Given the description of an element on the screen output the (x, y) to click on. 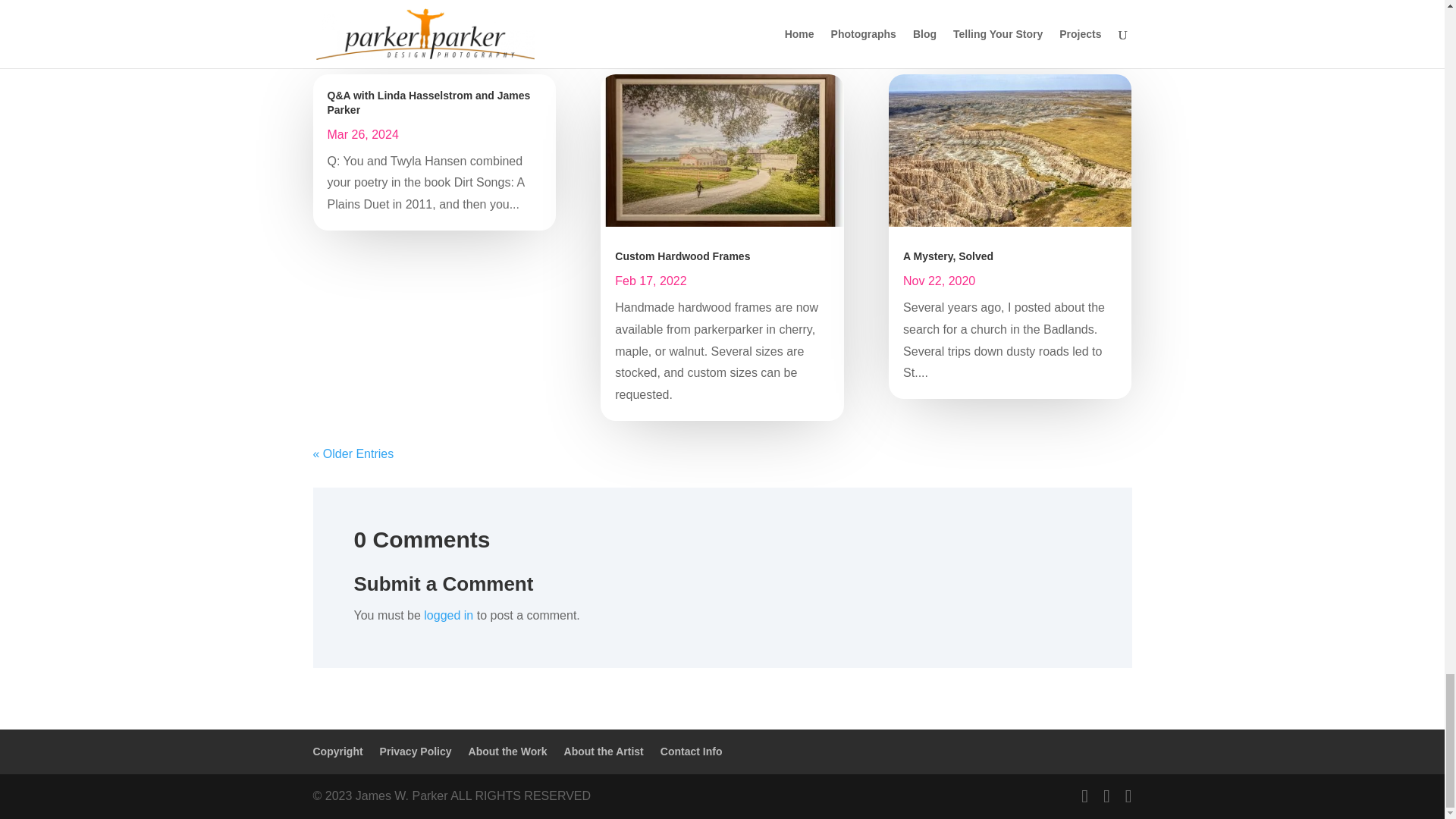
Privacy Policy (415, 751)
Custom Hardwood Frames (681, 256)
About the Artist (603, 751)
About the Work (507, 751)
Copyright (337, 751)
Contact Info (691, 751)
logged in (448, 615)
A Mystery, Solved (947, 256)
